Given the description of an element on the screen output the (x, y) to click on. 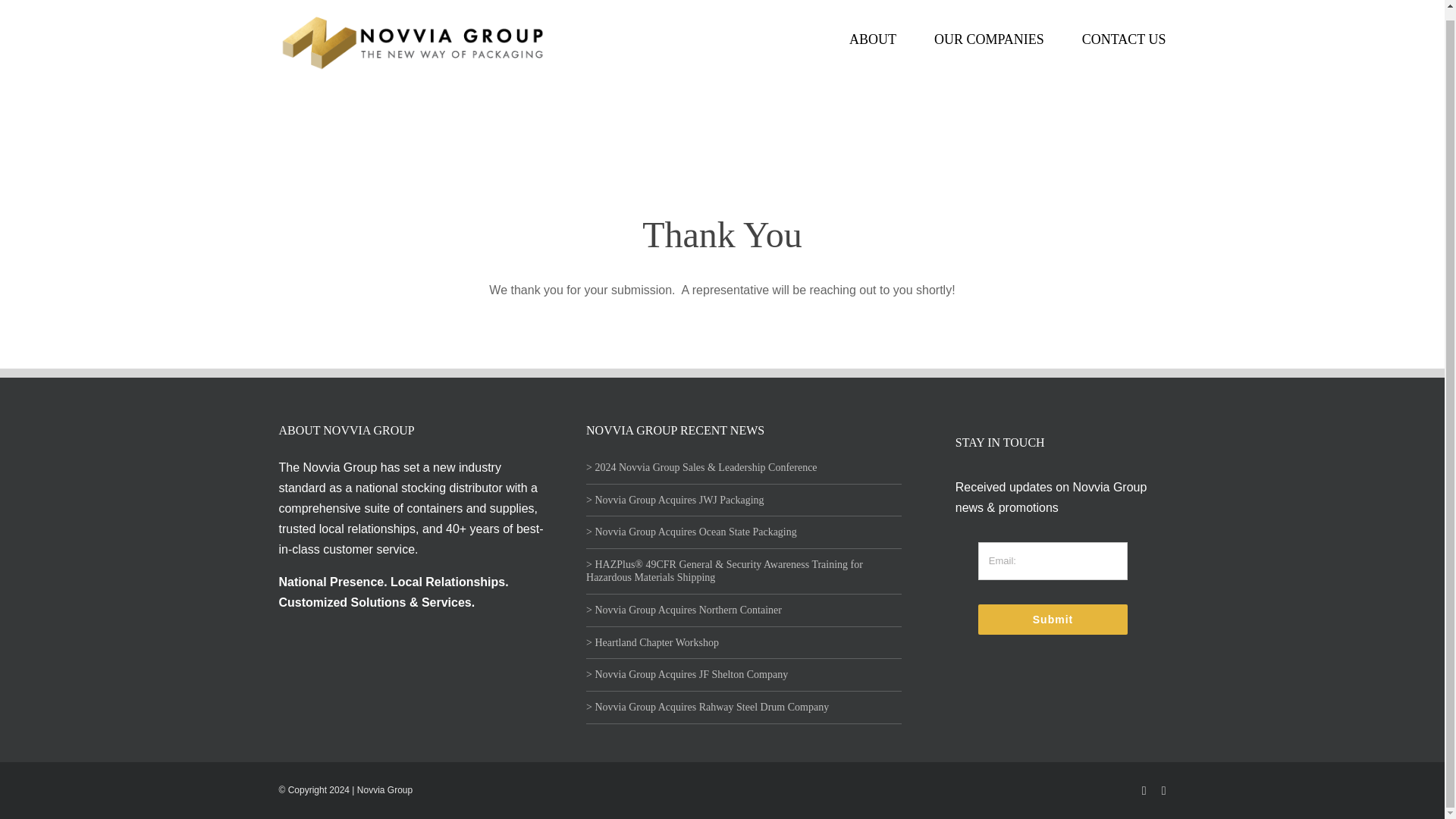
Home (1050, 136)
Submit (1052, 619)
OUR COMPANIES (988, 38)
Submit (1052, 595)
CONTACT US (1123, 38)
